Given the description of an element on the screen output the (x, y) to click on. 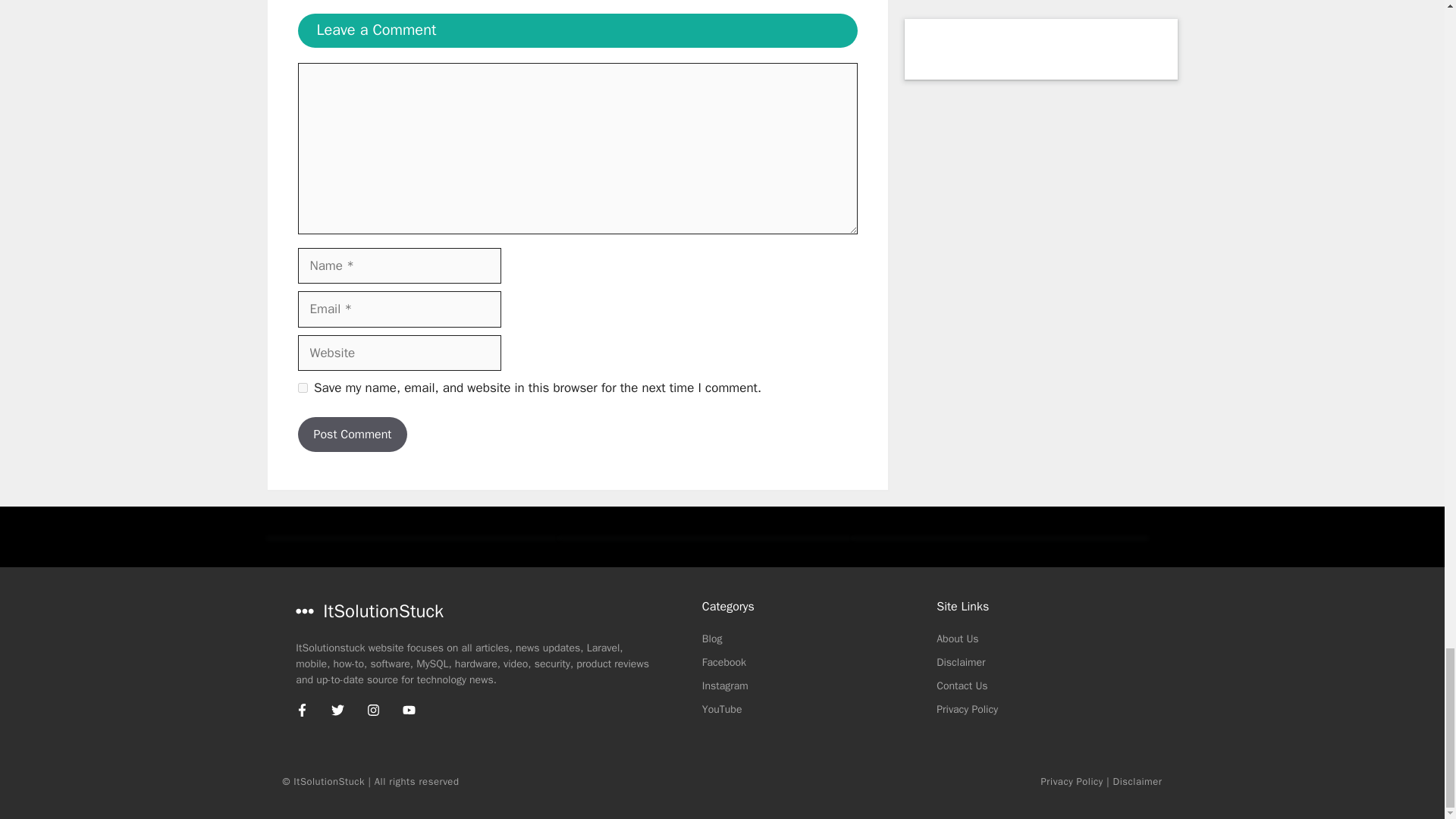
yes (302, 388)
Post Comment (352, 434)
Post Comment (352, 434)
